Given the description of an element on the screen output the (x, y) to click on. 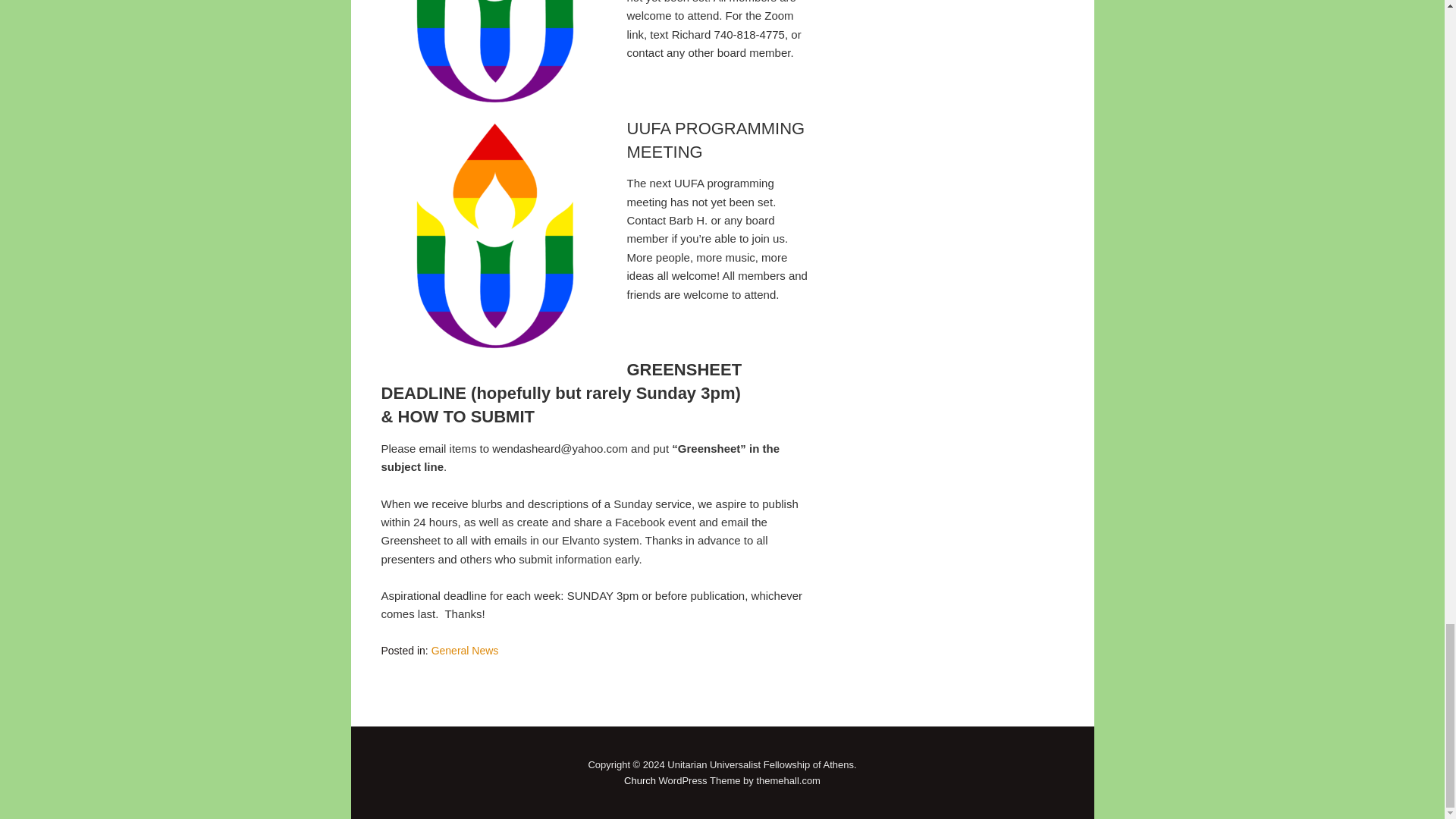
Page 1 (594, 490)
General News (464, 650)
Church WordPress Theme (640, 780)
Church (640, 780)
